Given the description of an element on the screen output the (x, y) to click on. 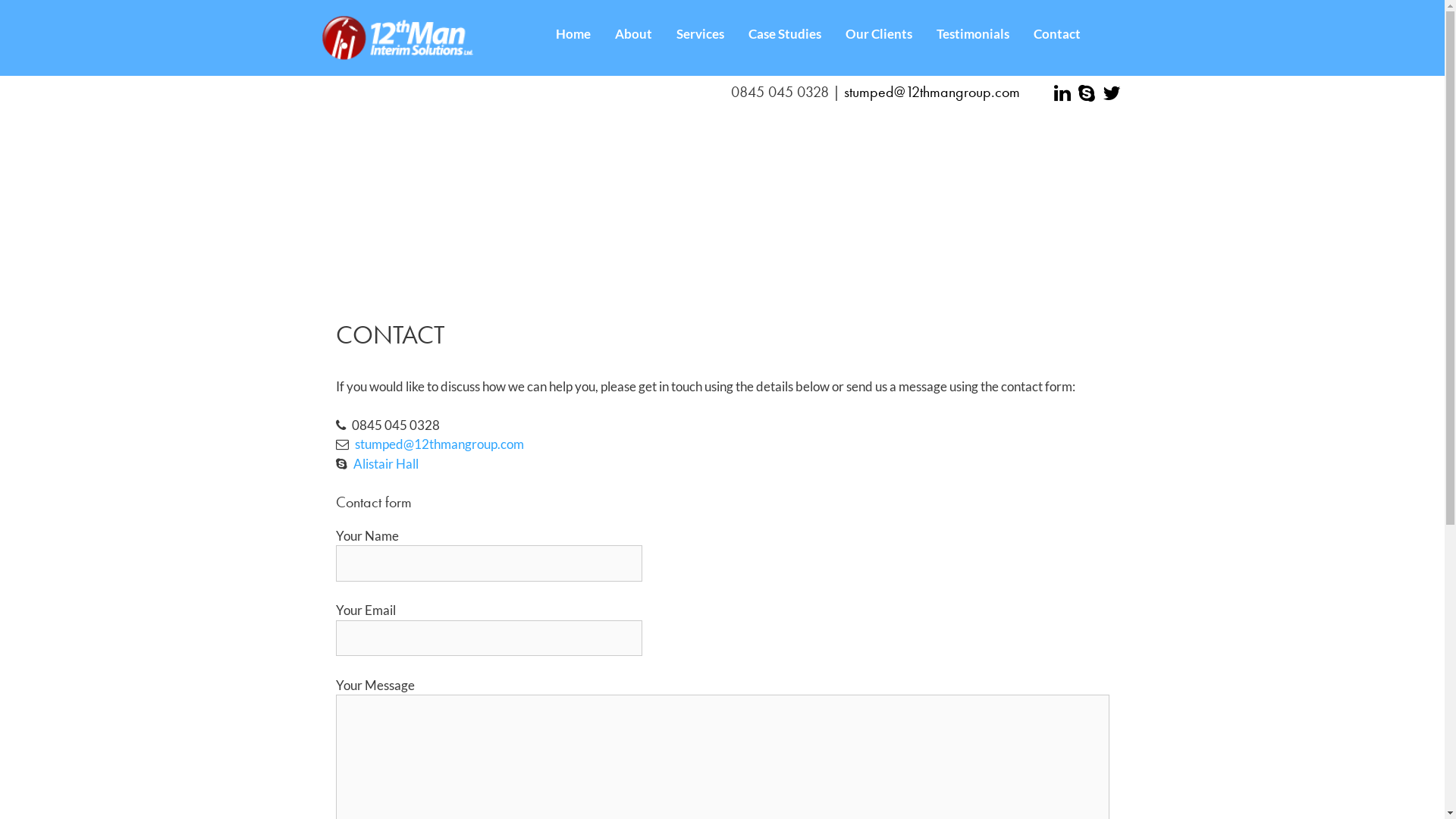
Testimonials Element type: text (972, 33)
About Element type: text (633, 33)
Case Studies Element type: text (784, 33)
Our Clients Element type: text (878, 33)
stumped@12thmangroup.com Element type: text (439, 443)
stumped@12thmangroup.com Element type: text (931, 91)
Services Element type: text (700, 33)
12th Man Group Element type: hover (397, 37)
Alistair Hall Element type: text (385, 463)
Contact Element type: text (1056, 33)
Home Element type: text (572, 33)
